Given the description of an element on the screen output the (x, y) to click on. 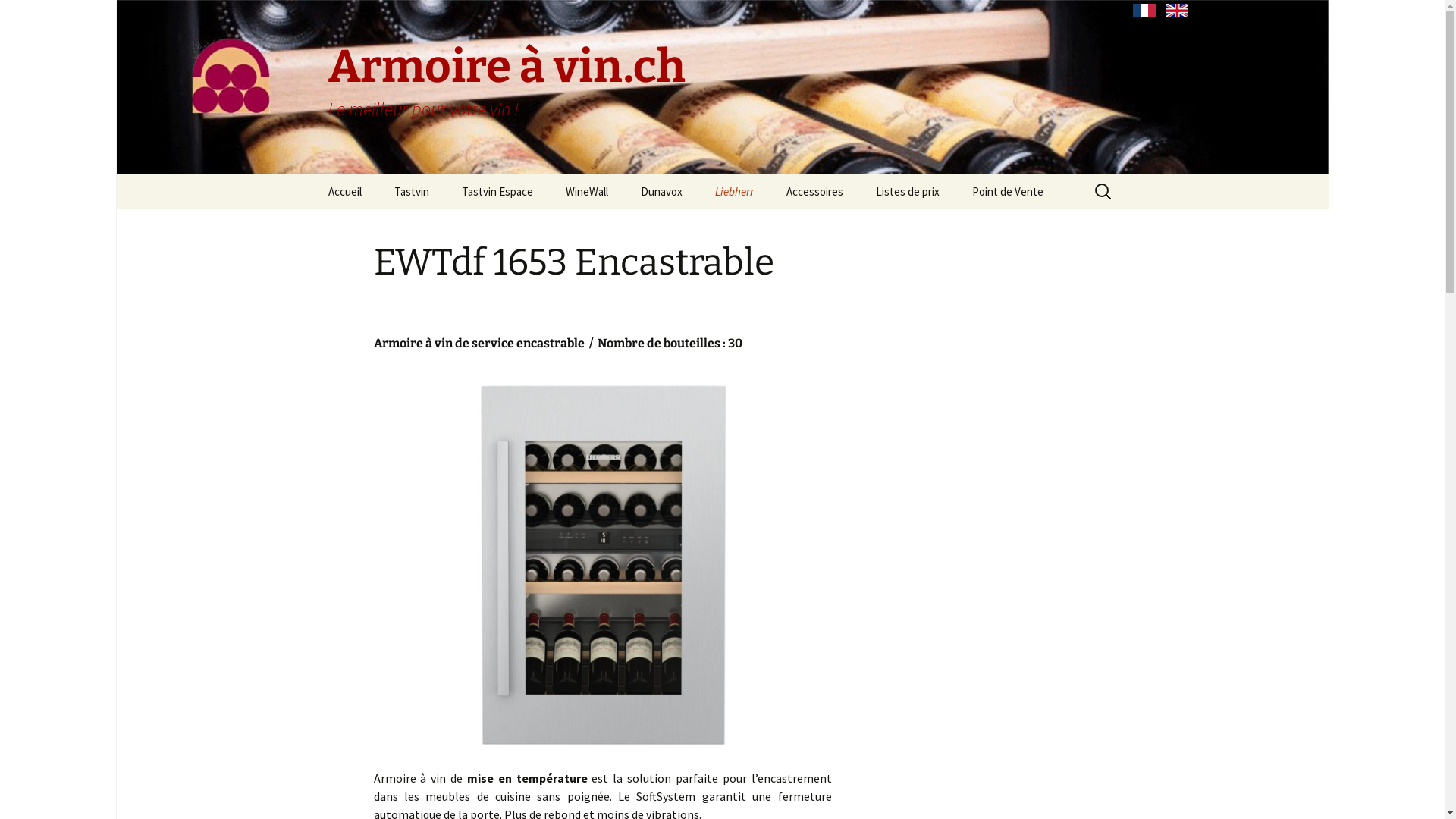
Accueil Element type: text (344, 191)
English Element type: hover (1176, 10)
Rechercher Element type: text (18, 16)
WineWall Element type: text (586, 191)
Dunavox Encastrable Element type: text (700, 225)
Accessoires Element type: text (813, 191)
Liebherr Element type: text (733, 191)
Aller au contenu principal Element type: text (312, 173)
Listes de prix Element type: text (906, 191)
Dunavox Element type: text (660, 191)
Liebherr Grand Cru Element type: text (774, 225)
Tastvin Espace Element type: text (496, 191)
Point de Vente Element type: text (1007, 191)
Tastvin Vieillissement Element type: text (454, 225)
Tastvin Element type: text (411, 191)
